Given the description of an element on the screen output the (x, y) to click on. 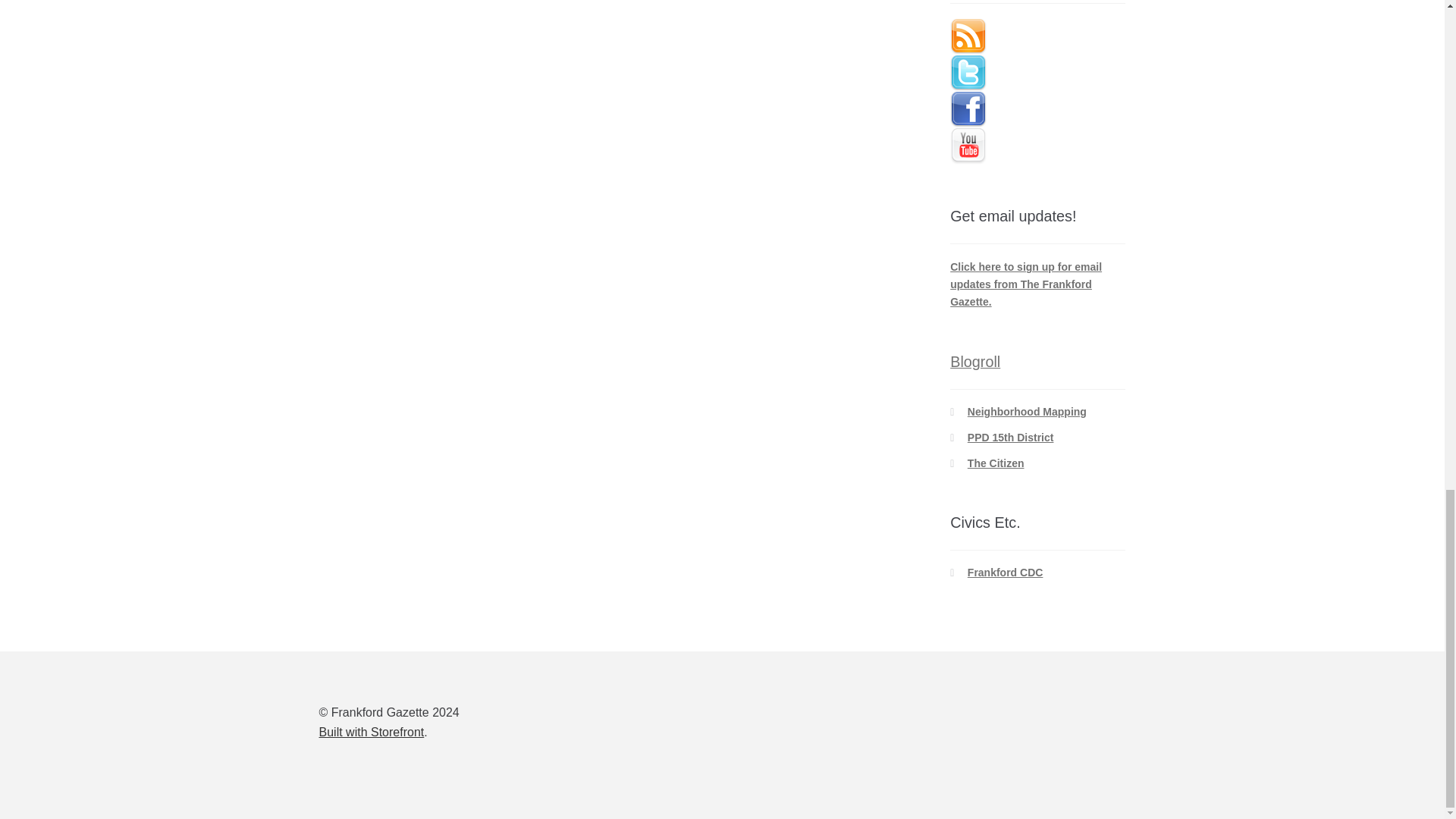
Philadelphia Police 15th district list of community meetings (1011, 437)
Frankford Community Development Corporation (1005, 572)
What neighborhood am I in? (1027, 411)
